Given the description of an element on the screen output the (x, y) to click on. 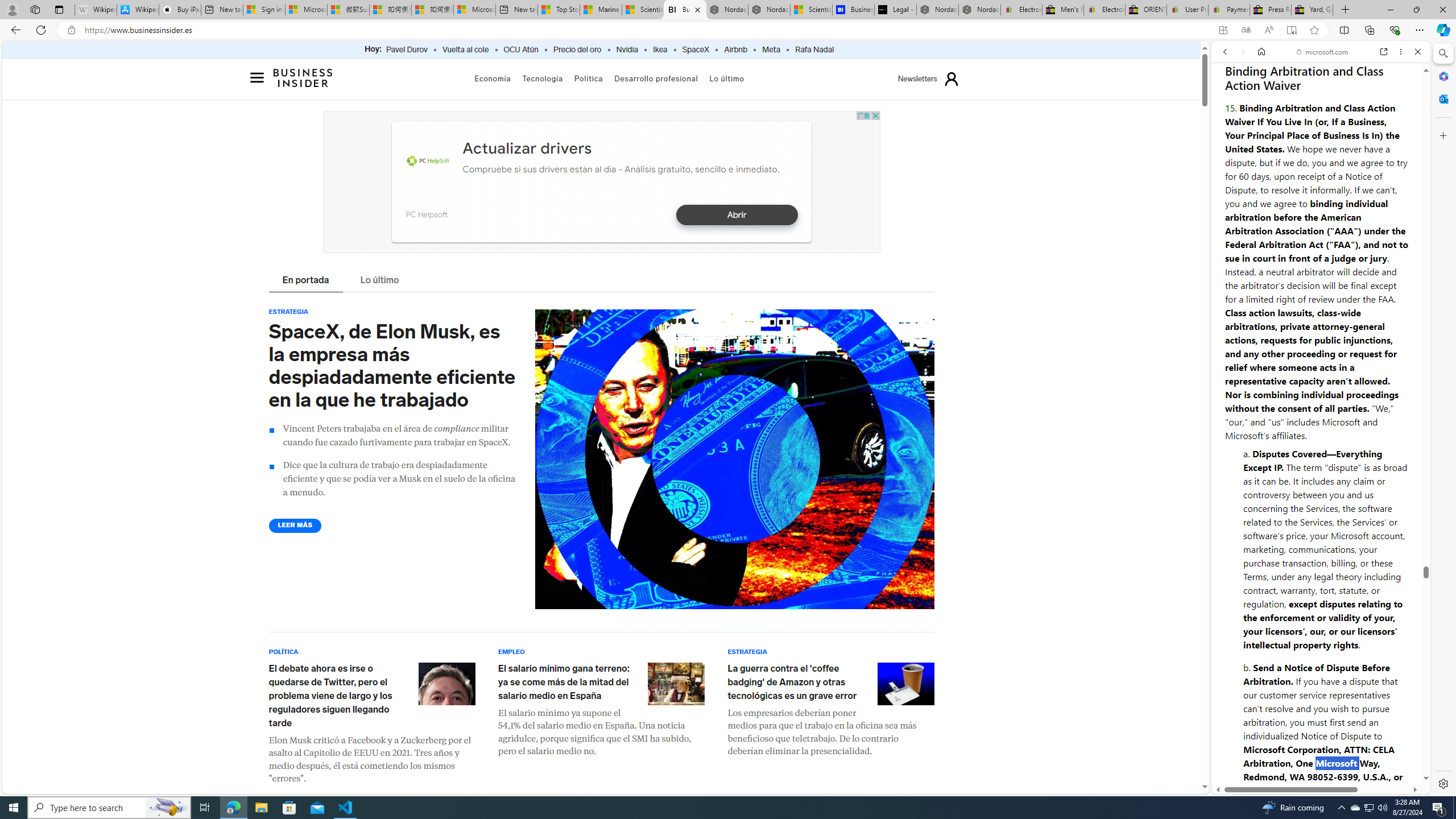
Ikea (659, 49)
Actualizar drivers (526, 148)
Vuelta al cole (464, 49)
